Given the description of an element on the screen output the (x, y) to click on. 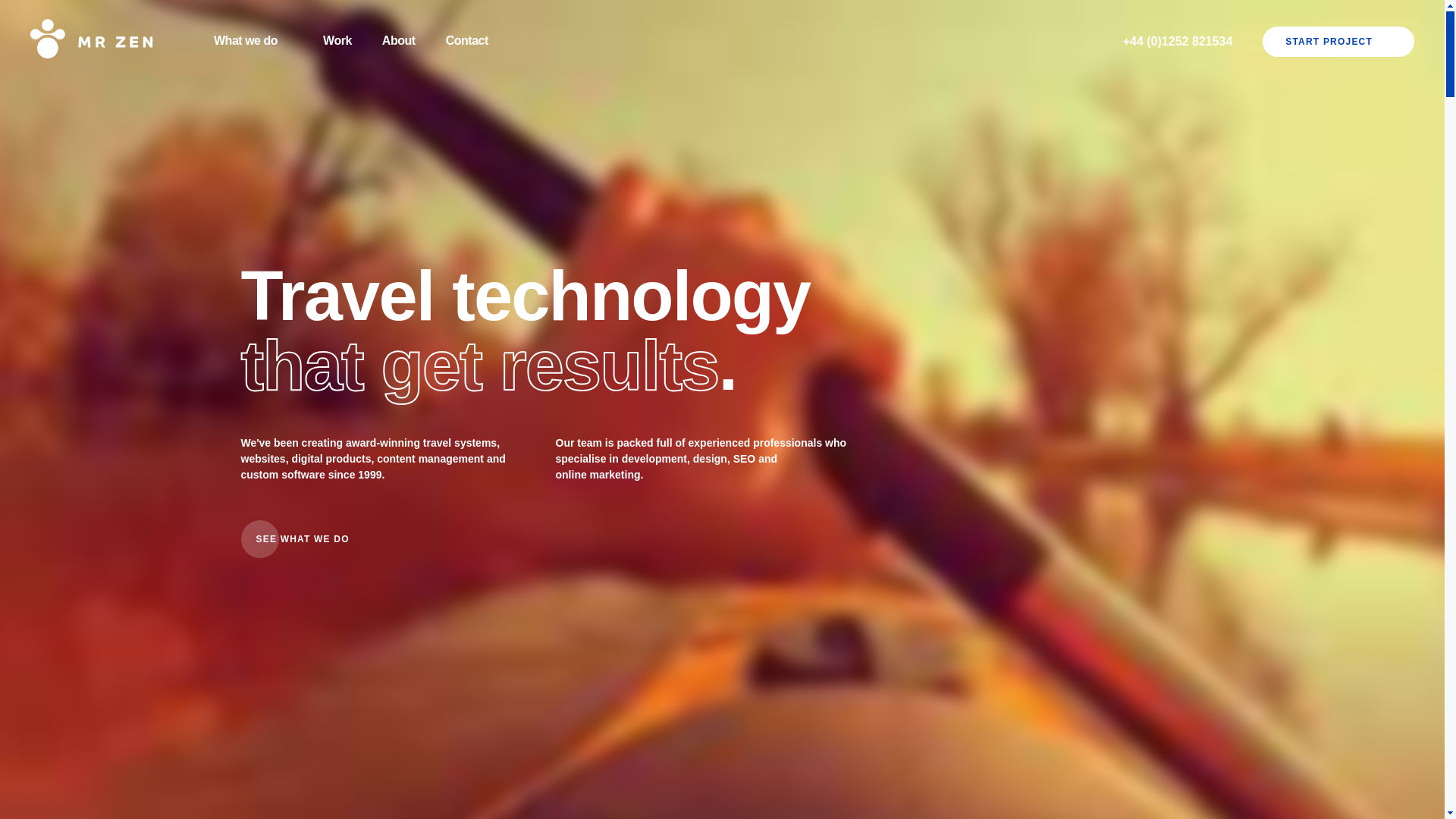
What we do (253, 41)
START PROJECT (1337, 41)
Work (337, 41)
SEE WHAT WE DO (312, 546)
that get results (480, 375)
Contact (466, 41)
About (397, 41)
